Given the description of an element on the screen output the (x, y) to click on. 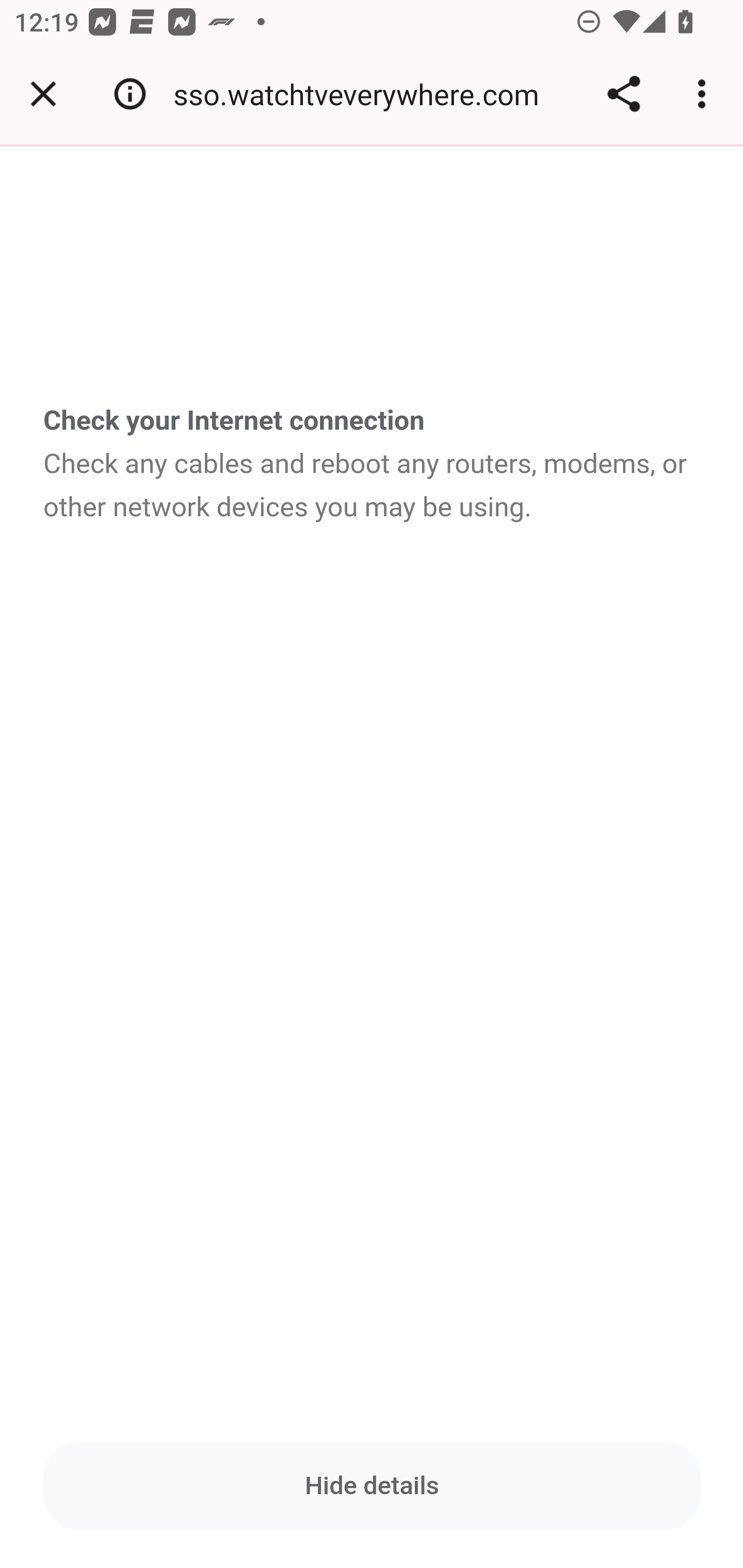
Close tab (43, 93)
Share (623, 93)
Customize and control Google Chrome (705, 93)
Your connection to this site is not secure (129, 93)
sso.watchtveverywhere.com (363, 93)
Hide details (372, 1485)
